Given the description of an element on the screen output the (x, y) to click on. 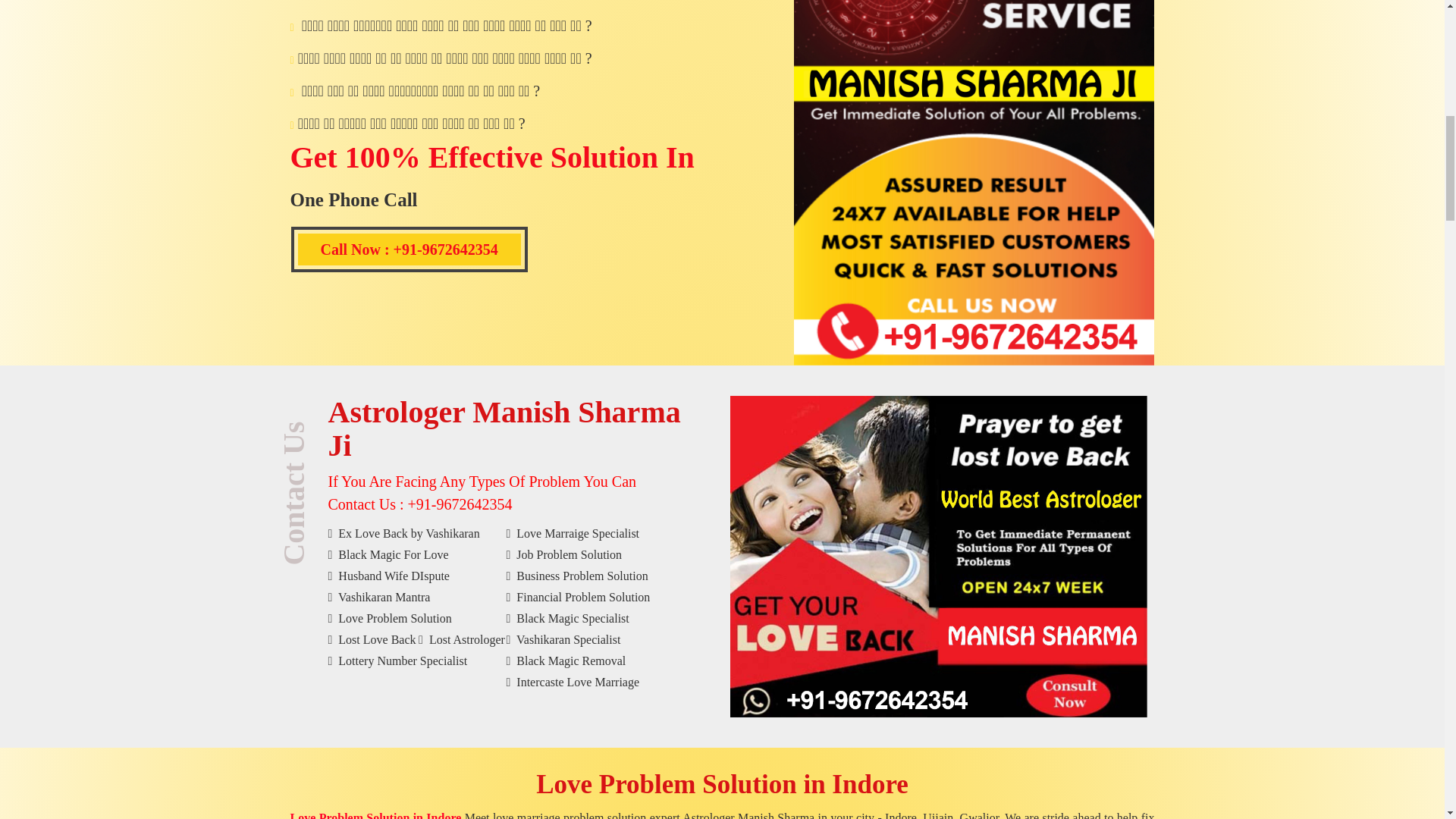
Love Problem Solution in Indore (721, 784)
Love Problem Solution in Indore (721, 784)
